Given the description of an element on the screen output the (x, y) to click on. 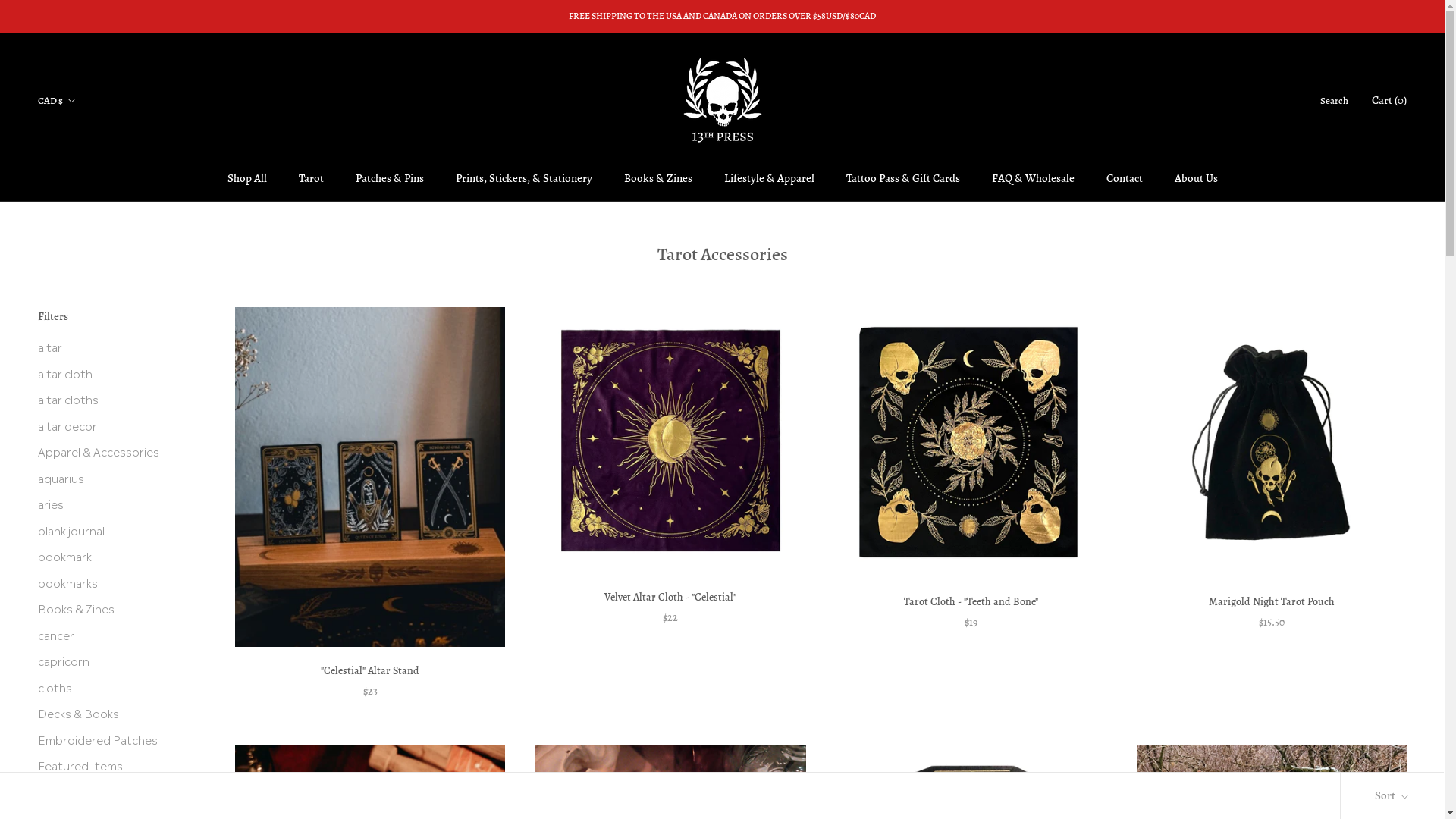
PHP Element type: text (77, 373)
FAQ & Wholesale Element type: text (1032, 177)
Search Element type: text (1334, 100)
Velvet Altar Cloth - "Celestial" Element type: text (670, 596)
EUR Element type: text (77, 207)
aquarius Element type: text (113, 477)
altar decor Element type: text (113, 425)
Tarot Element type: text (310, 177)
Apparel & Accessories Element type: text (113, 451)
Marigold Night Tarot Pouch Element type: text (1271, 601)
CAD Element type: text (77, 159)
Cart (0) Element type: text (1388, 99)
JPY Element type: text (77, 326)
bookmarks Element type: text (113, 582)
Tarot Cloth - "Teeth and Bone" Element type: text (970, 601)
ILS Element type: text (77, 278)
blank journal Element type: text (113, 530)
cloths Element type: text (113, 687)
capricorn Element type: text (113, 660)
PLN Element type: text (77, 397)
AUD Element type: text (77, 135)
aries Element type: text (113, 503)
Filters Element type: text (113, 316)
ISK Element type: text (77, 302)
Featured Items Element type: text (113, 765)
Books & Zines Element type: text (113, 608)
GBP Element type: text (77, 230)
DKK Element type: text (77, 182)
TWD Element type: text (77, 469)
Patches & Pins Element type: text (388, 177)
CAD $ Element type: text (56, 100)
"Celestial" Altar Stand Element type: text (369, 670)
Prints, Stickers, & Stationery Element type: text (523, 177)
Tattoo Pass & Gift Cards
Tattoo Pass & Gift Cards Element type: text (903, 177)
gemini Element type: text (113, 791)
Lifestyle & Apparel Element type: text (768, 177)
Contact
Contact Element type: text (1123, 177)
Books & Zines
Books & Zines Element type: text (657, 177)
altar cloth Element type: text (113, 373)
KRW Element type: text (77, 349)
USD Element type: text (77, 493)
altar Element type: text (113, 346)
Embroidered Patches Element type: text (113, 739)
About Us
About Us Element type: text (1195, 177)
Decks & Books Element type: text (113, 712)
HKD Element type: text (77, 254)
SGD Element type: text (77, 421)
cancer Element type: text (113, 634)
THB Element type: text (77, 445)
Shop All
Shop All Element type: text (246, 177)
bookmark Element type: text (113, 555)
altar cloths Element type: text (113, 398)
